Given the description of an element on the screen output the (x, y) to click on. 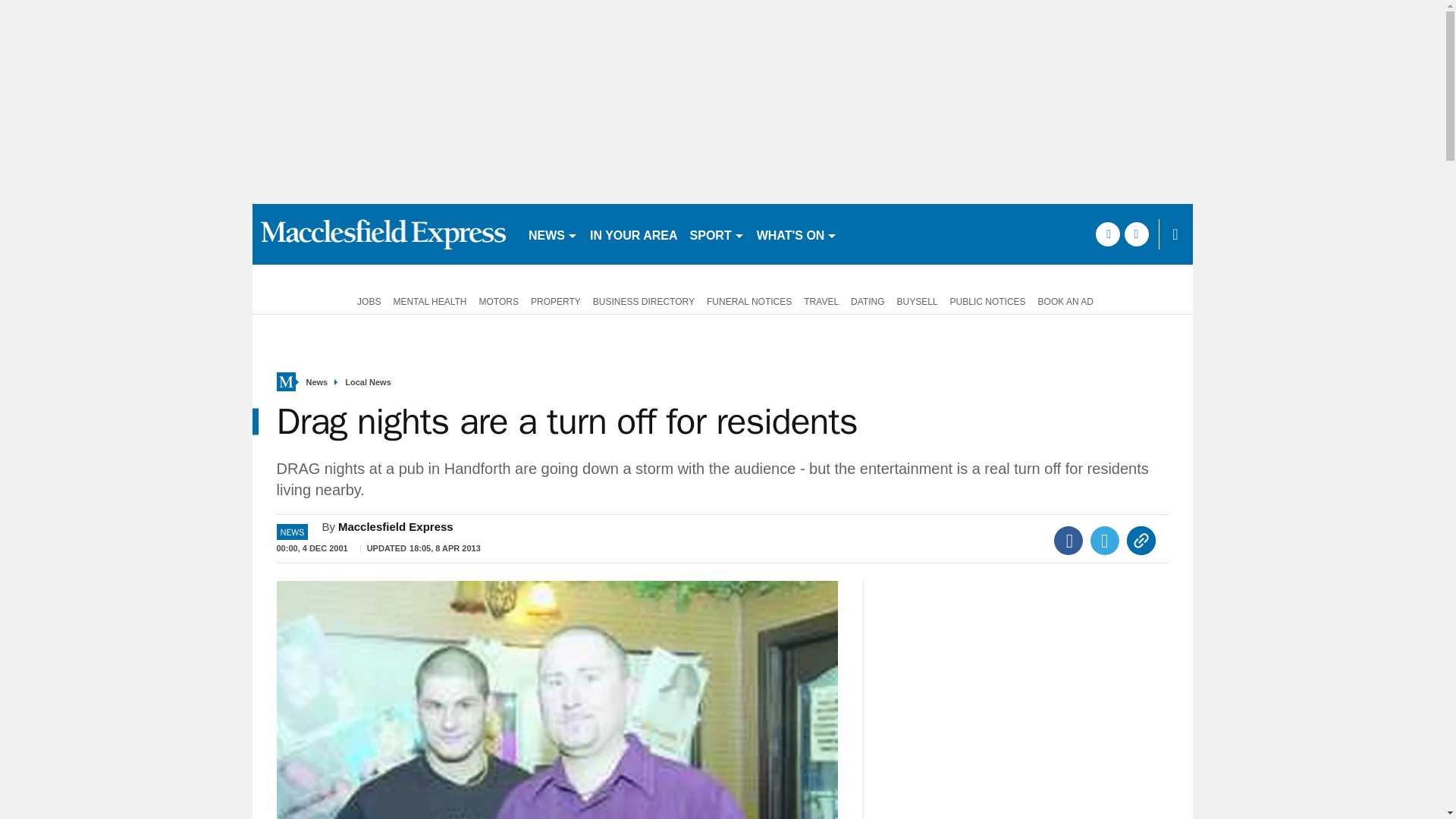
Facebook (1068, 540)
WHAT'S ON (797, 233)
DATING (866, 300)
BUYSELL (917, 300)
TRAVEL (820, 300)
Twitter (1104, 540)
SPORT (717, 233)
FUNERAL NOTICES (748, 300)
macclesfield (383, 233)
facebook (1106, 233)
MOTORS (498, 300)
PROPERTY (555, 300)
NEWS (552, 233)
JOBS (366, 300)
MENTAL HEALTH (429, 300)
